Given the description of an element on the screen output the (x, y) to click on. 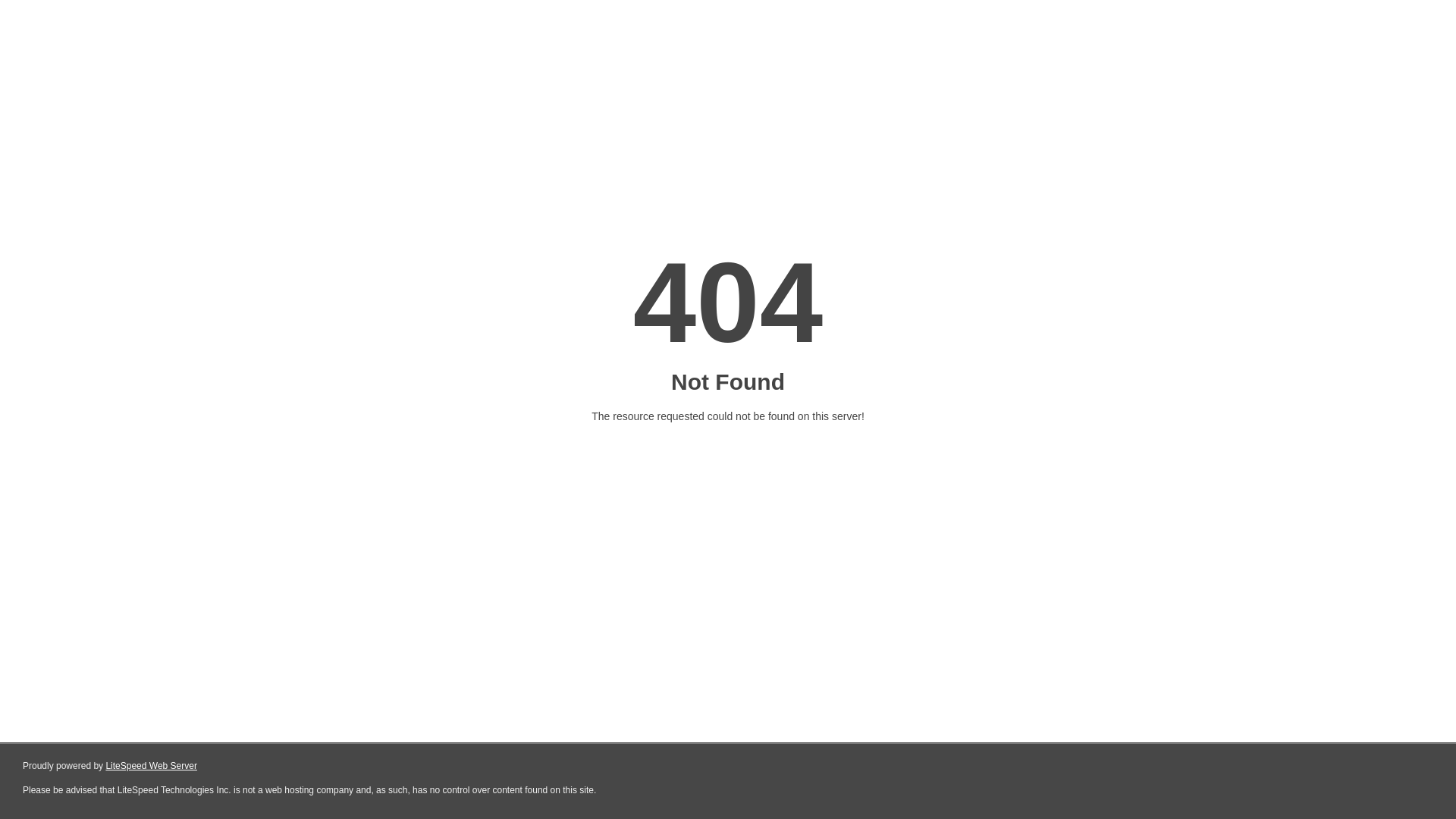
LiteSpeed Web Server Element type: text (151, 765)
